Given the description of an element on the screen output the (x, y) to click on. 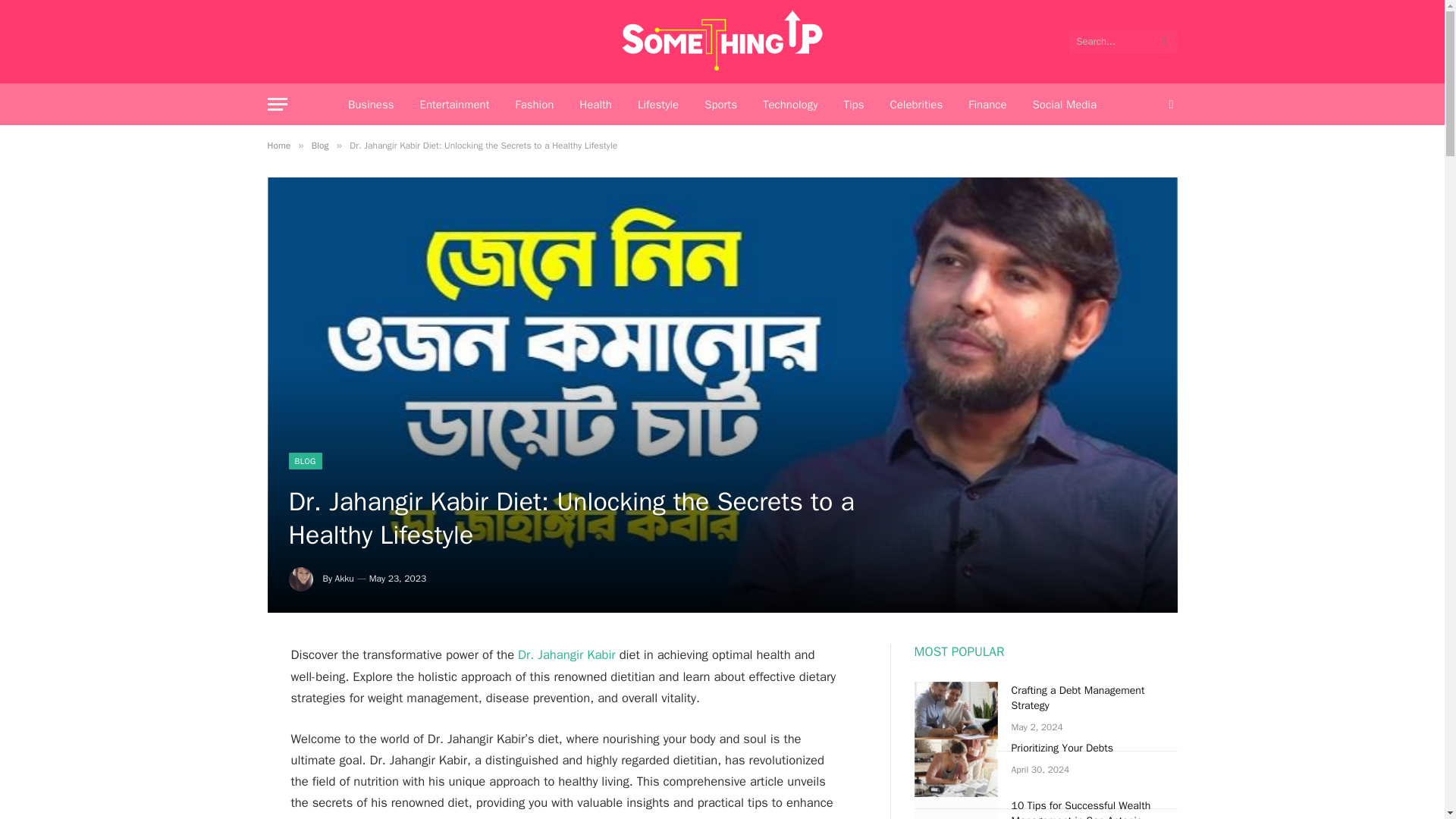
Posts by Akku (343, 578)
Lifestyle (657, 104)
Entertainment (454, 104)
Akku (343, 578)
Technology (790, 104)
Somethingup.net (721, 41)
Home (277, 145)
Blog (320, 145)
BLOG (304, 460)
Social Media (1064, 104)
Fashion (534, 104)
Finance (987, 104)
Celebrities (915, 104)
Tips (852, 104)
